Given the description of an element on the screen output the (x, y) to click on. 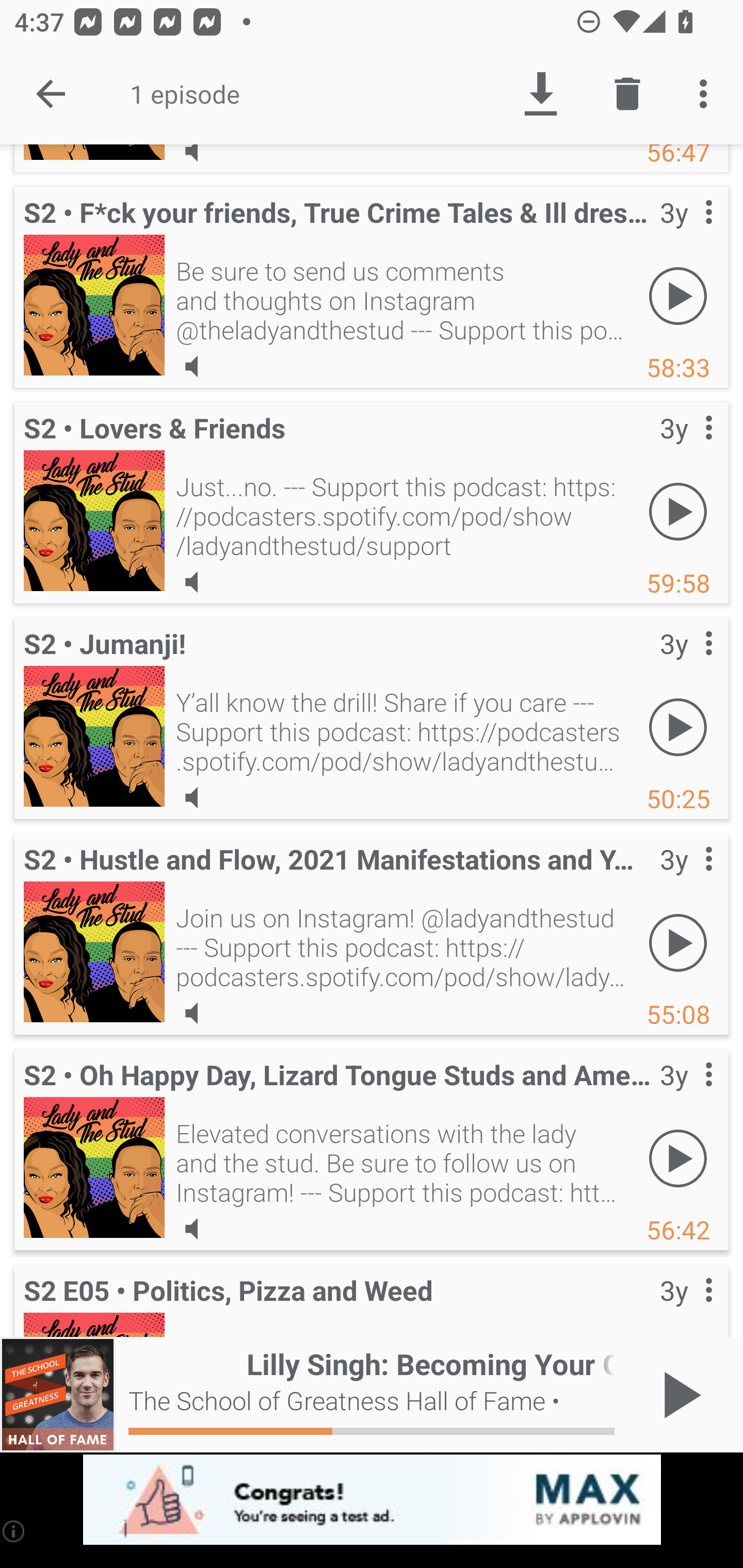
Done (50, 93)
Download (540, 93)
Delete episode (626, 93)
More options (706, 93)
Contextual menu (685, 232)
Play (677, 296)
Contextual menu (685, 448)
Lovers & Friends (93, 520)
Play (677, 511)
Contextual menu (685, 663)
Jumanji! (93, 735)
Play (677, 727)
Contextual menu (685, 879)
Play (677, 943)
Contextual menu (685, 1095)
Play (677, 1158)
Contextual menu (685, 1302)
Play / Pause (677, 1394)
app-monetization (371, 1500)
(i) (14, 1531)
